Given the description of an element on the screen output the (x, y) to click on. 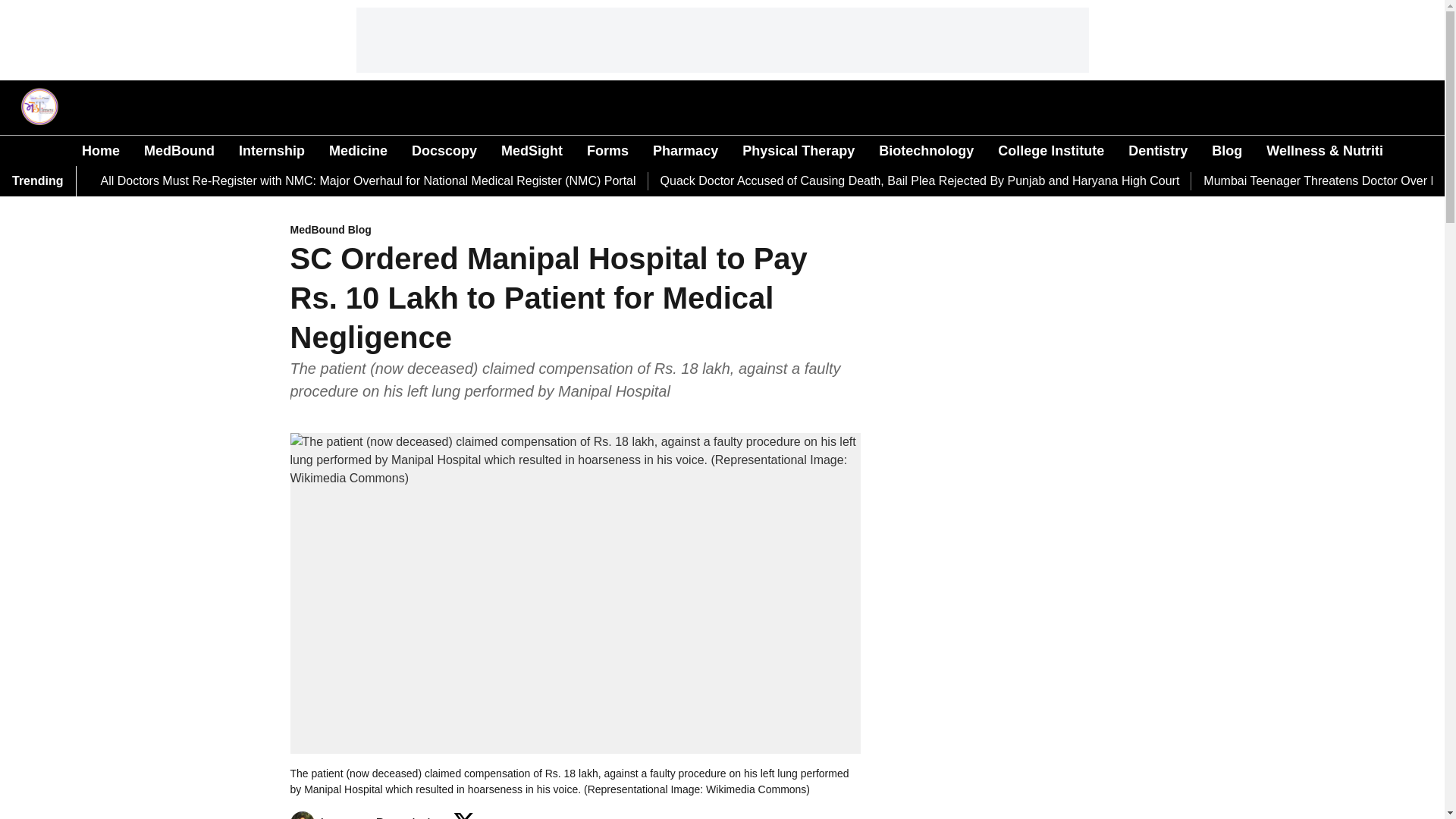
Biotechnology (926, 150)
Physical Therapy (798, 150)
Internship (271, 150)
MedBound (179, 150)
Blog (1226, 150)
Home (100, 150)
Forms (607, 150)
College Institute (1050, 150)
Medicine (358, 150)
Pharmacy (684, 150)
